Given the description of an element on the screen output the (x, y) to click on. 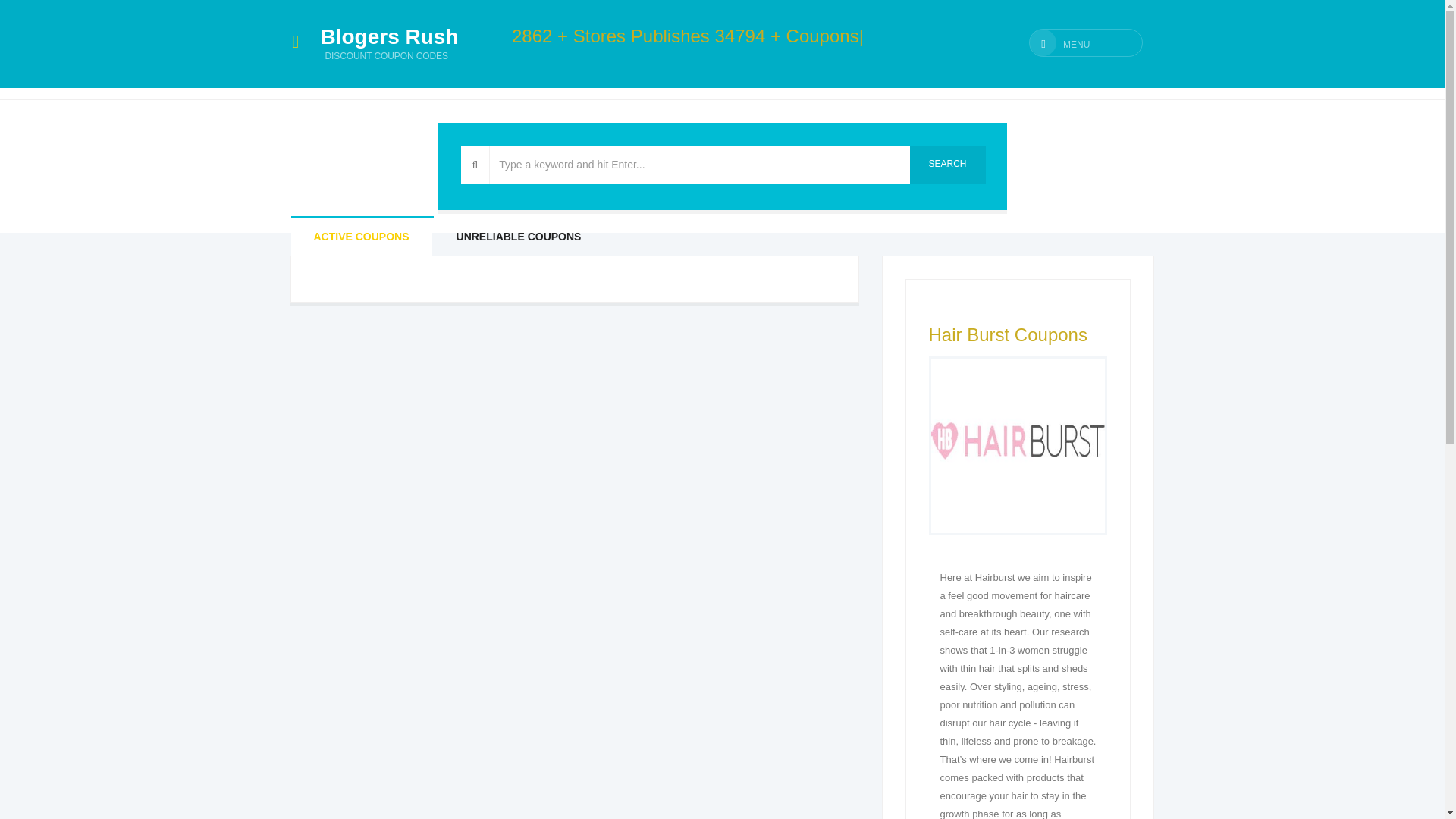
SEARCH (947, 164)
UNRELIABLE COUPONS (518, 237)
ACTIVE COUPONS (361, 237)
